Given the description of an element on the screen output the (x, y) to click on. 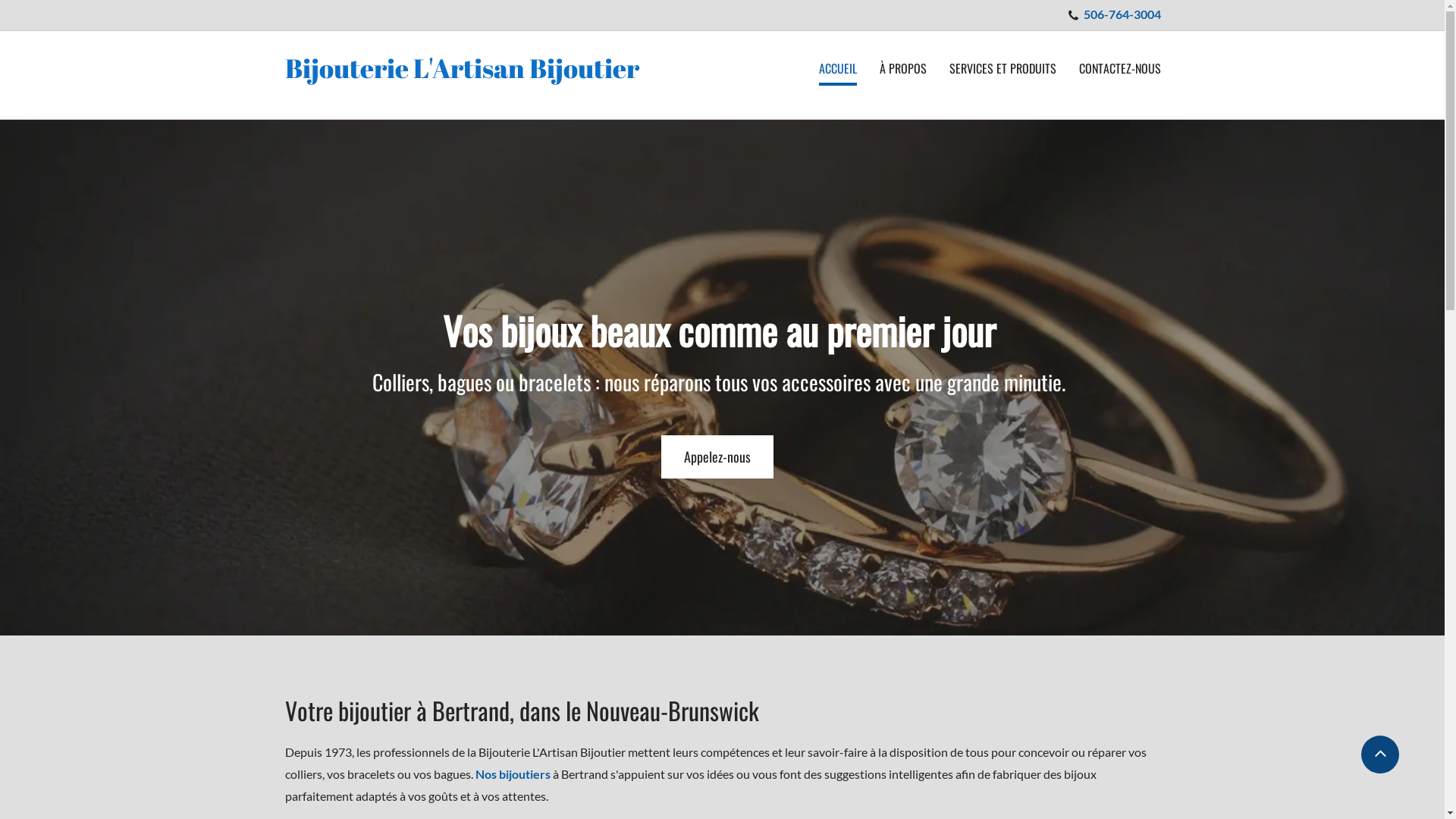
CONTACTEZ-NOUS Element type: text (1119, 69)
Appelez-nous Element type: text (717, 456)
SERVICES ET PRODUITS Element type: text (1002, 69)
506-764-3004 Element type: text (1121, 16)
Nos bijoutiers Element type: text (511, 773)
ACCUEIL Element type: text (837, 70)
Bijouterie L'Artisan Bijoutier Element type: text (462, 67)
